Given the description of an element on the screen output the (x, y) to click on. 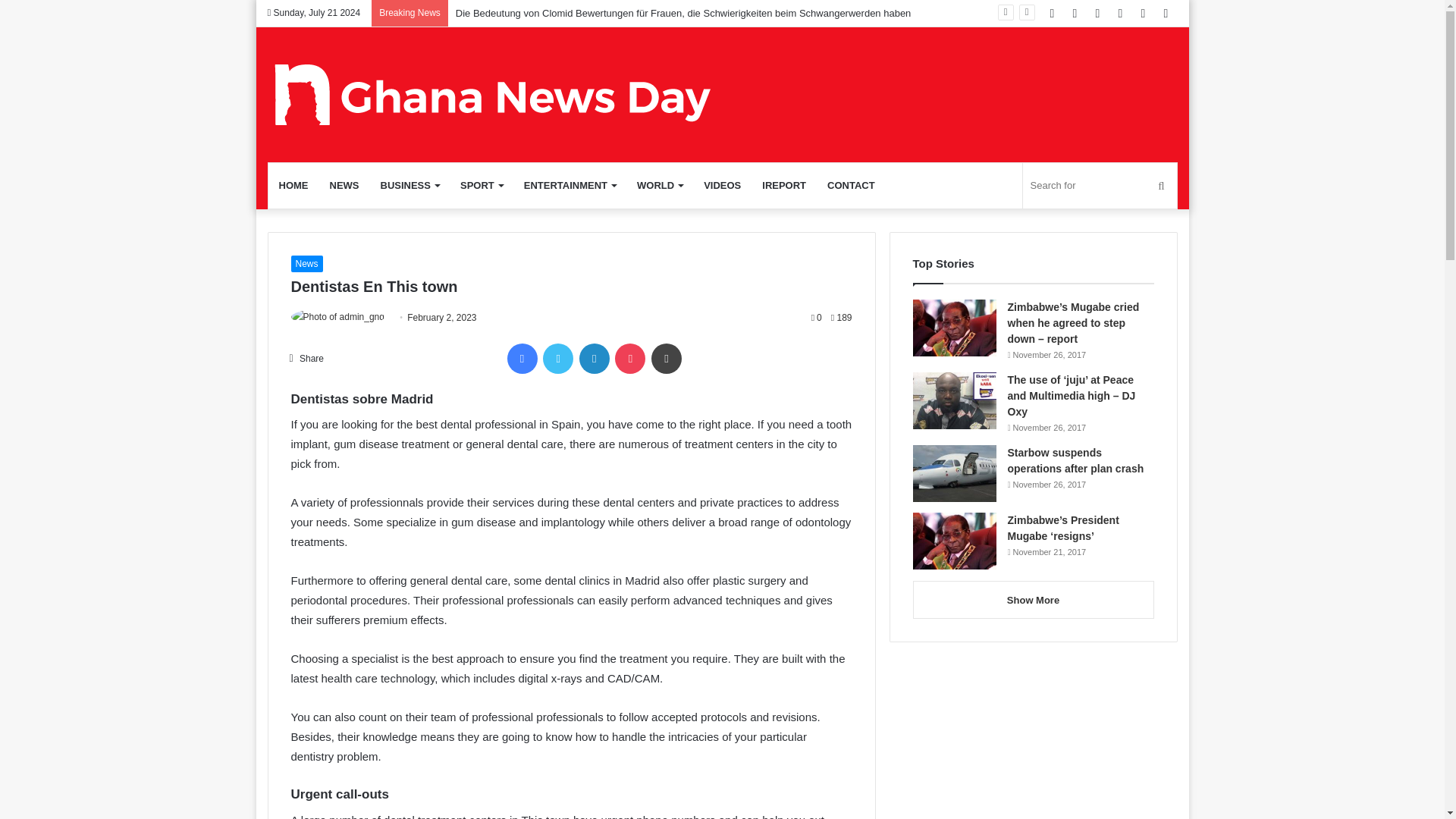
SPORT (481, 185)
Pocket (629, 358)
VIDEOS (722, 185)
Print (665, 358)
Search for (1099, 185)
CONTACT (850, 185)
HOME (292, 185)
BUSINESS (409, 185)
LinkedIn (594, 358)
ENTERTAINMENT (569, 185)
Facebook (521, 358)
IREPORT (783, 185)
Twitter (558, 358)
NEWS (343, 185)
Ghana News Day (493, 94)
